Given the description of an element on the screen output the (x, y) to click on. 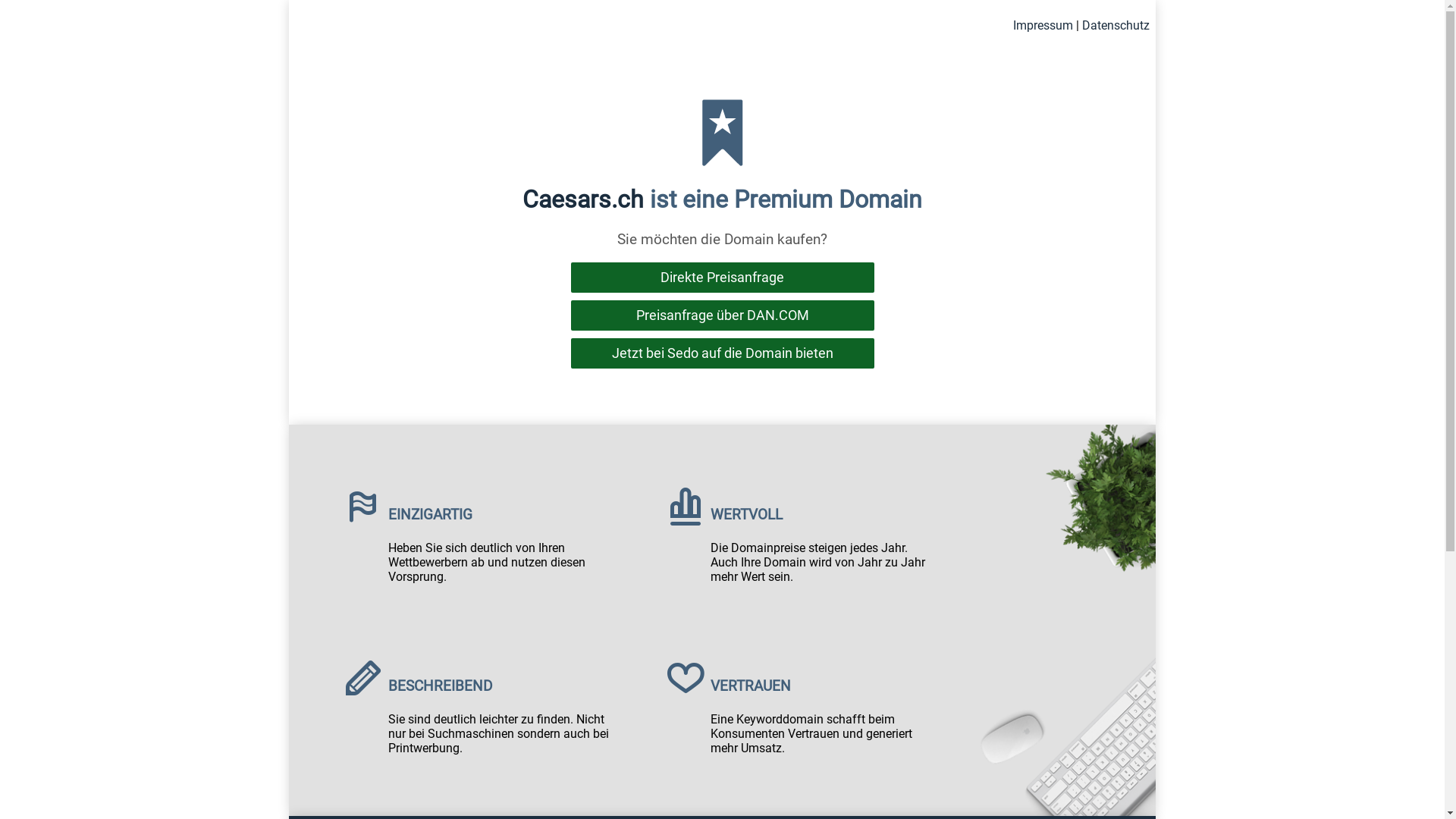
Bookmark Icon mit Stern Element type: hover (722, 132)
Direkte Preisanfrage Element type: text (721, 277)
Jetzt bei Sedo auf die Domain bieten Element type: text (721, 353)
